Given the description of an element on the screen output the (x, y) to click on. 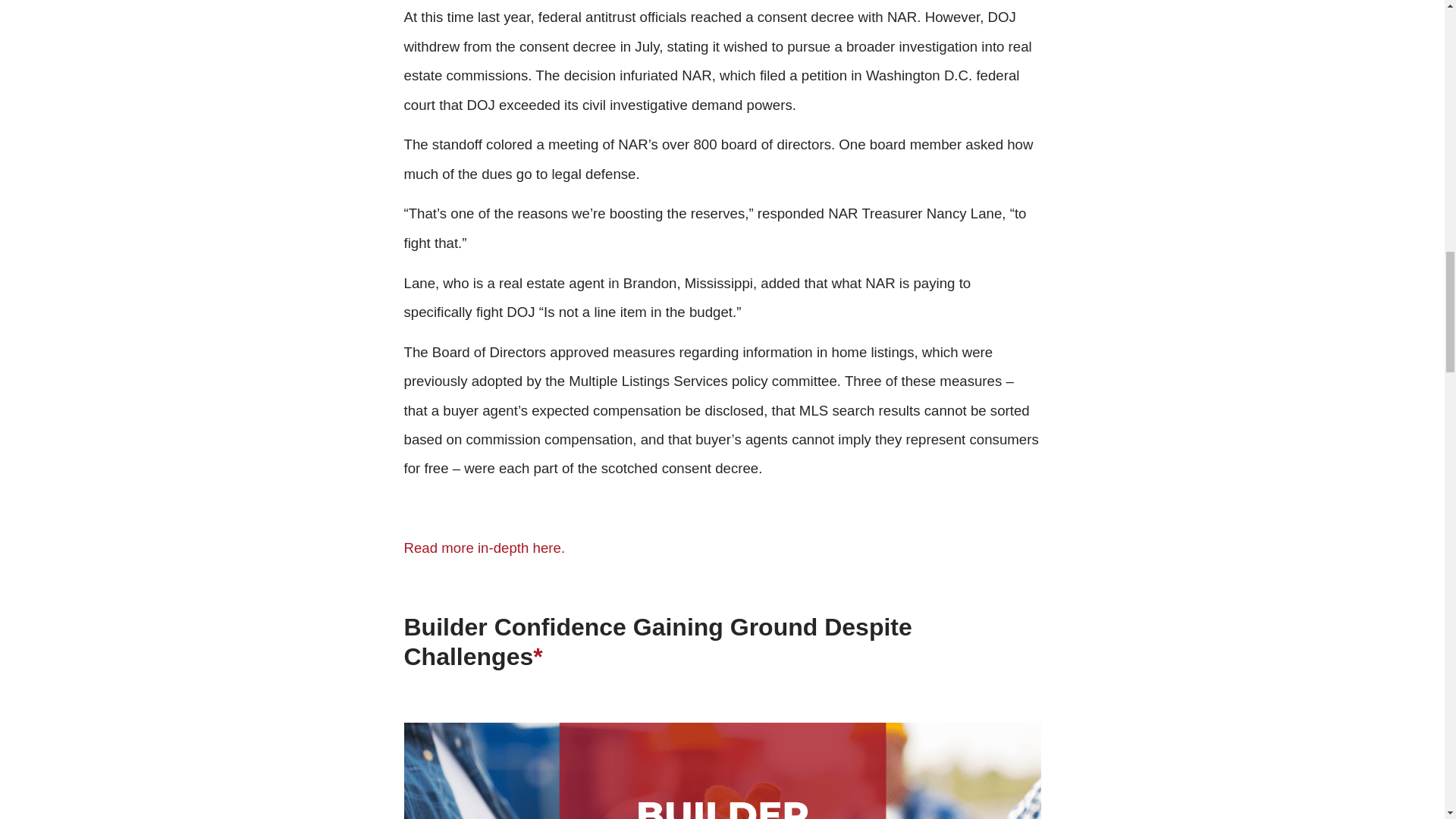
Read more in-depth here. (483, 547)
